Given the description of an element on the screen output the (x, y) to click on. 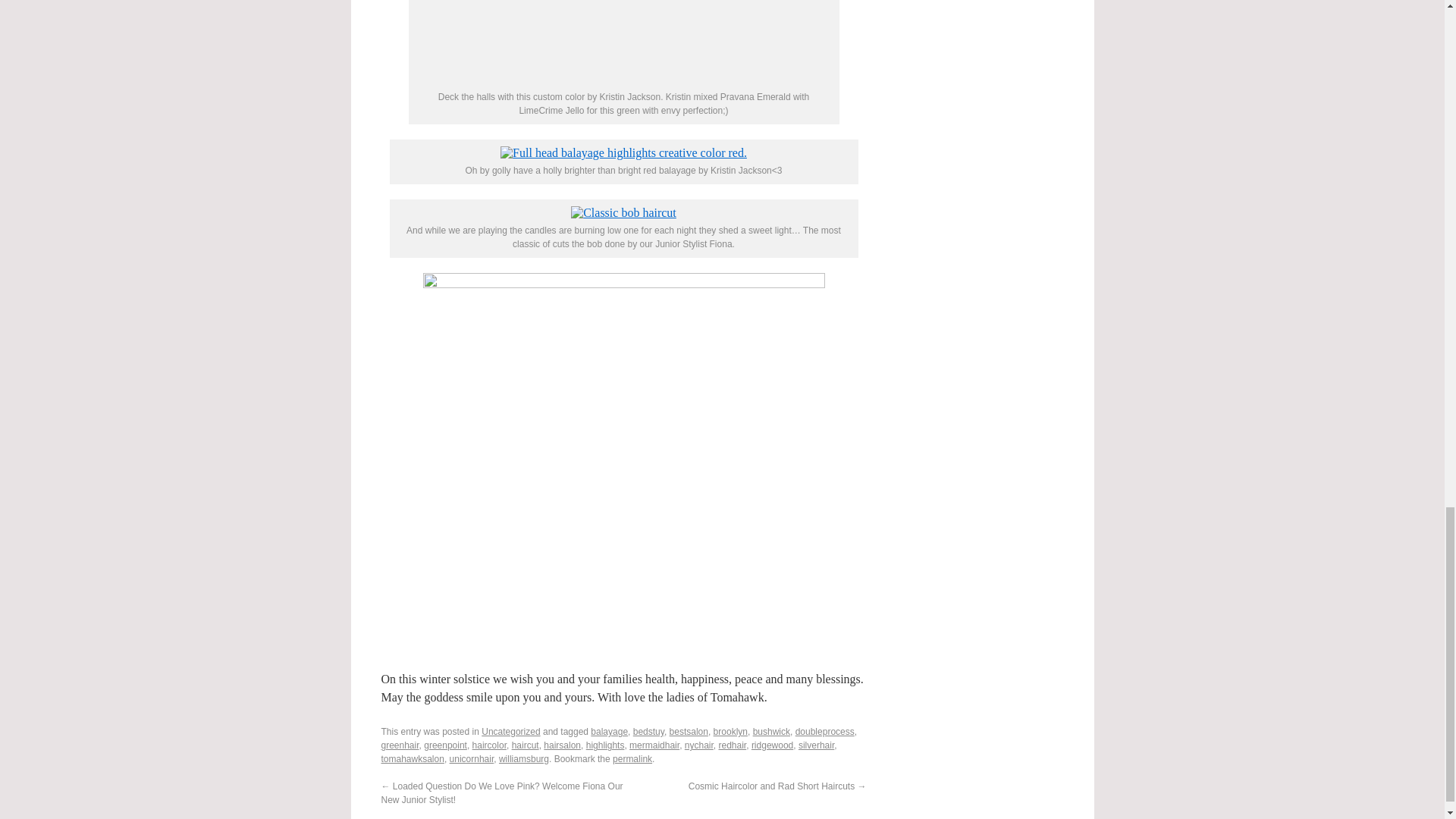
greenhair (399, 745)
doubleprocess (824, 731)
balayage (609, 731)
tomahawksalon (412, 758)
highlights (605, 745)
bedstuy (648, 731)
redhair (732, 745)
bushwick (771, 731)
silverhair (815, 745)
mermaidhair (653, 745)
